Given the description of an element on the screen output the (x, y) to click on. 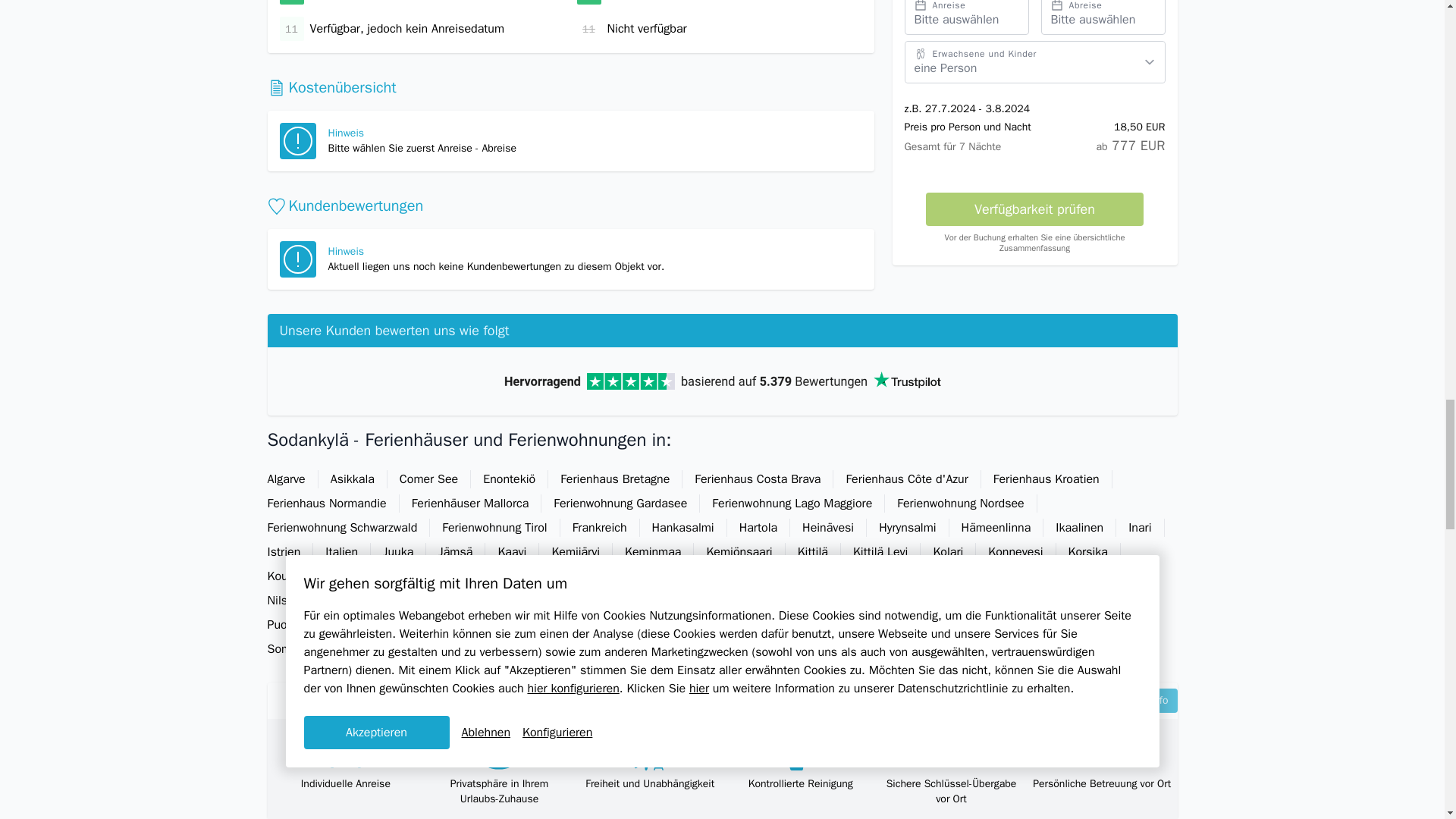
Asikkala (352, 479)
Ferienhaus Kroatien (1046, 479)
Comer See (428, 479)
Ferienwohnung Lago Maggiore (792, 503)
Ferienwohnung Gardasee (620, 503)
Algarve (285, 479)
Ferienhaus Costa Brava (757, 479)
Ferienhaus Bretagne (615, 479)
Ferienhaus Normandie (326, 503)
